Given the description of an element on the screen output the (x, y) to click on. 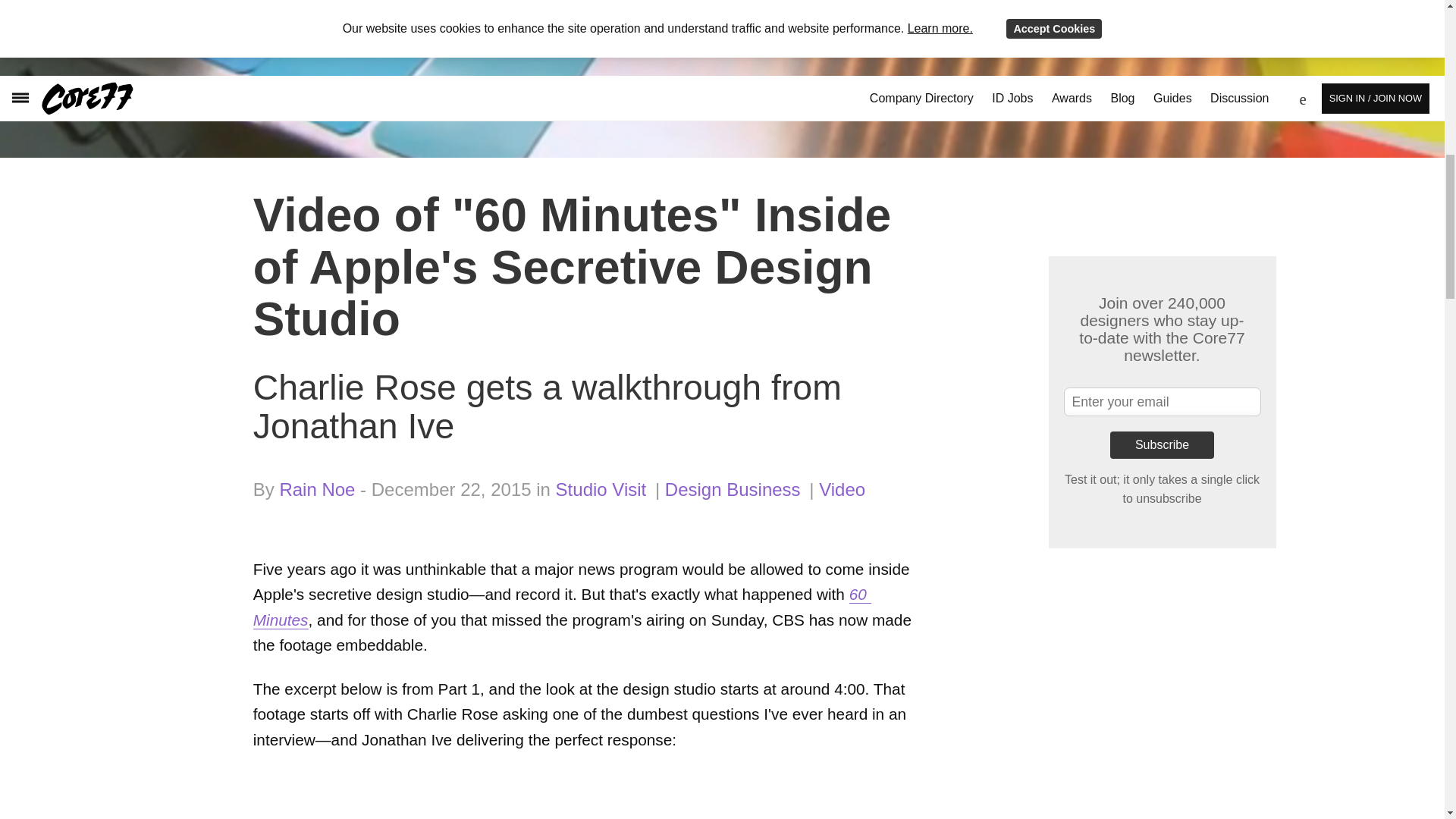
Rain Noe (317, 489)
60 Minutes (561, 606)
Design Business (732, 489)
Video (841, 489)
Studio Visit (601, 489)
